Given the description of an element on the screen output the (x, y) to click on. 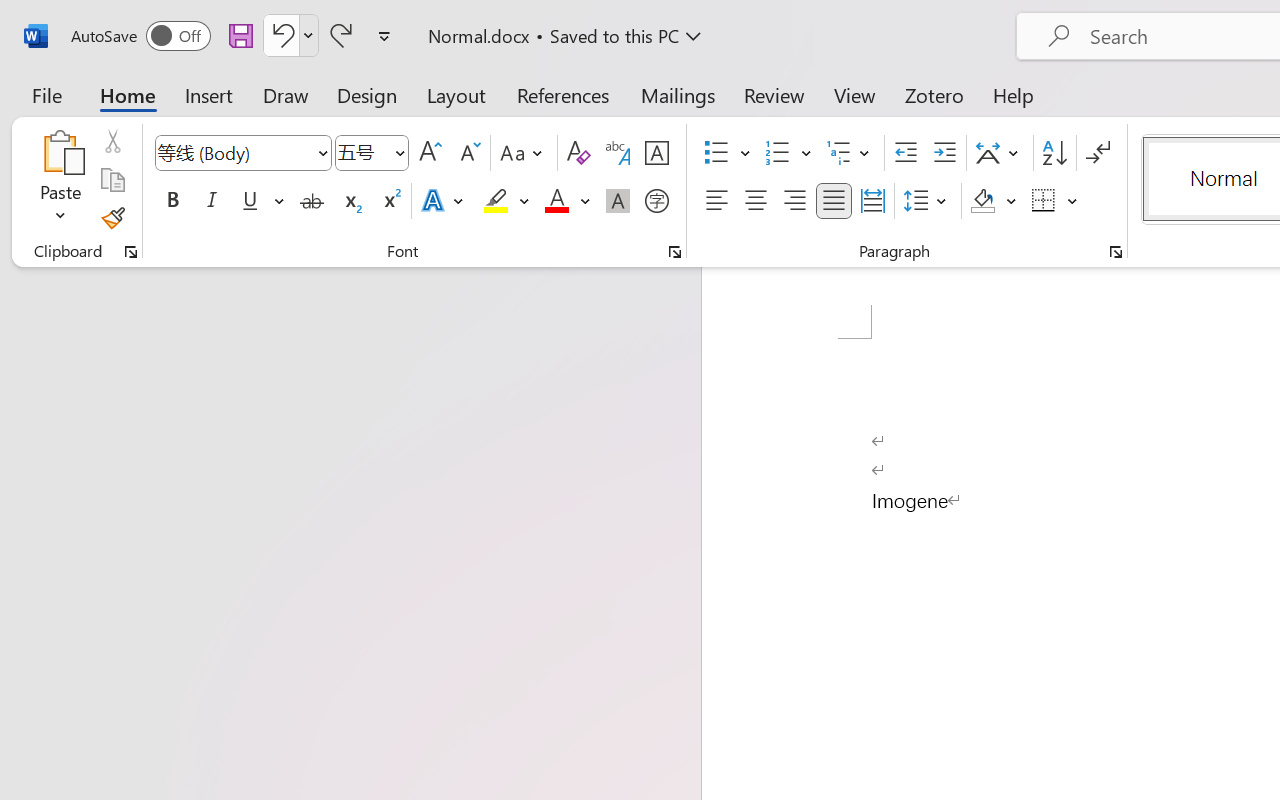
Copy (112, 179)
Enclose Characters... (656, 201)
Help (1013, 94)
Paragraph... (1115, 252)
Phonetic Guide... (618, 153)
Center (756, 201)
Align Left (716, 201)
